Given the description of an element on the screen output the (x, y) to click on. 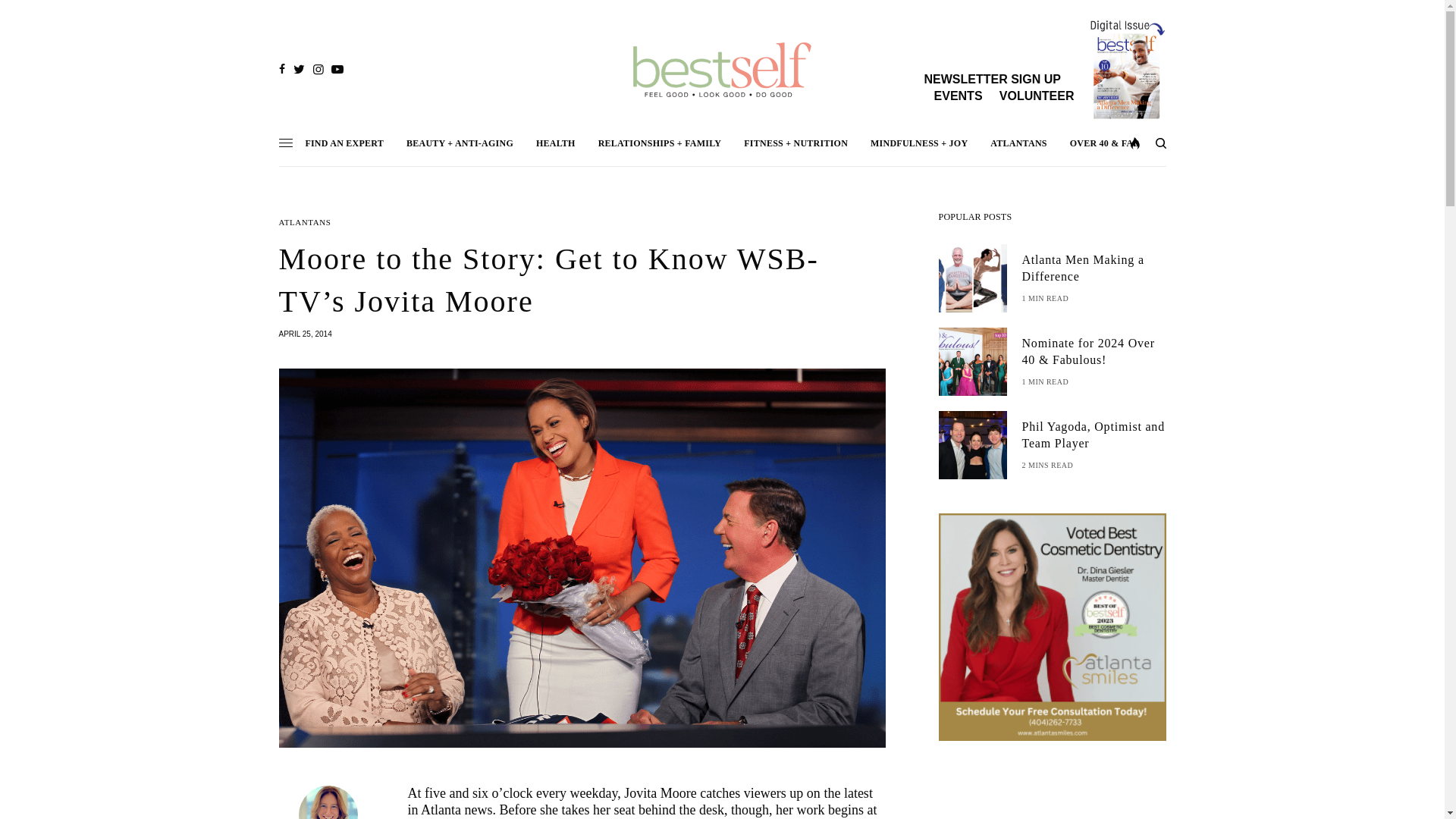
VOLUNTEER (1036, 95)
Best Self Atlanta (721, 69)
FIND AN EXPERT (344, 143)
Phil Yagoda, Optimist and Team Player (1094, 435)
Atlanta Men Making a Difference (1094, 268)
ATLANTANS (305, 222)
NEWSLETTER SIGN UP (991, 78)
EVENTS (958, 95)
ATLANTANS (1018, 143)
